Given the description of an element on the screen output the (x, y) to click on. 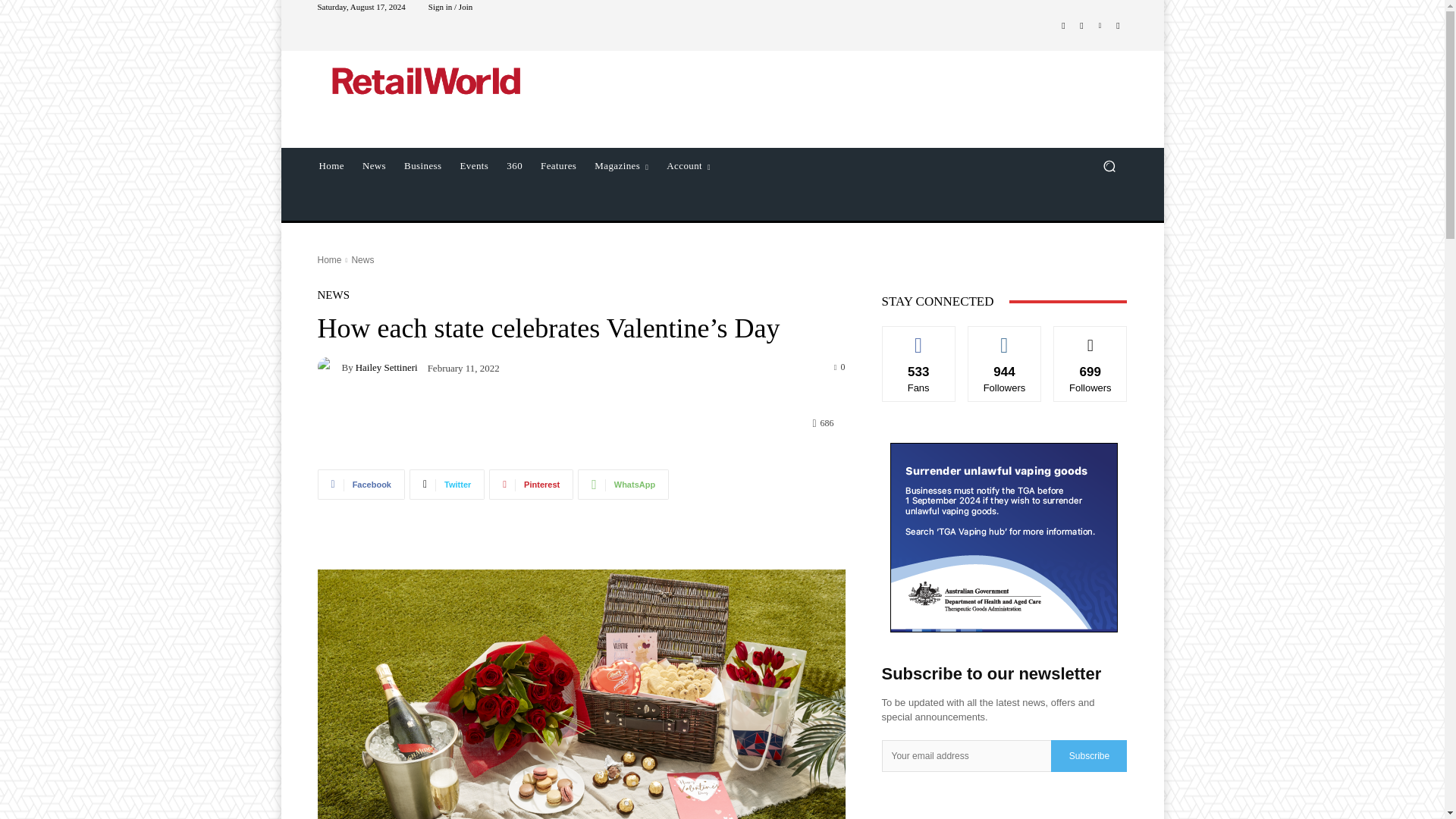
Pinterest (531, 483)
News (362, 259)
NEWS (333, 295)
Account (688, 166)
360 (514, 166)
WhatsApp (623, 483)
News (373, 166)
Magazines (621, 166)
Facebook (1062, 25)
View all posts in News (362, 259)
